Given the description of an element on the screen output the (x, y) to click on. 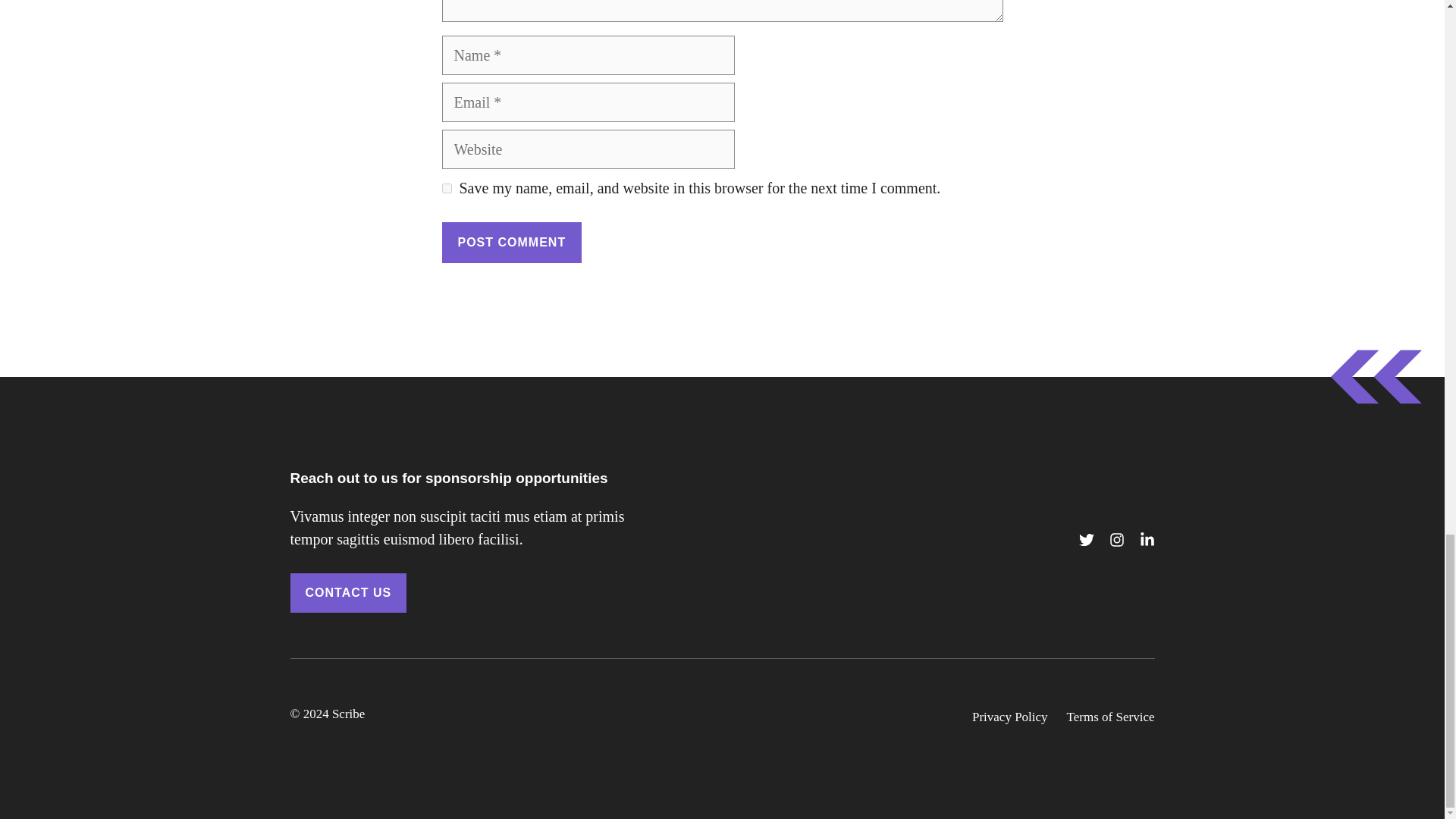
Privacy Policy (1010, 717)
Post Comment (510, 241)
Terms of Service (1110, 717)
CONTACT US (347, 591)
yes (446, 187)
Post Comment (510, 241)
